Given the description of an element on the screen output the (x, y) to click on. 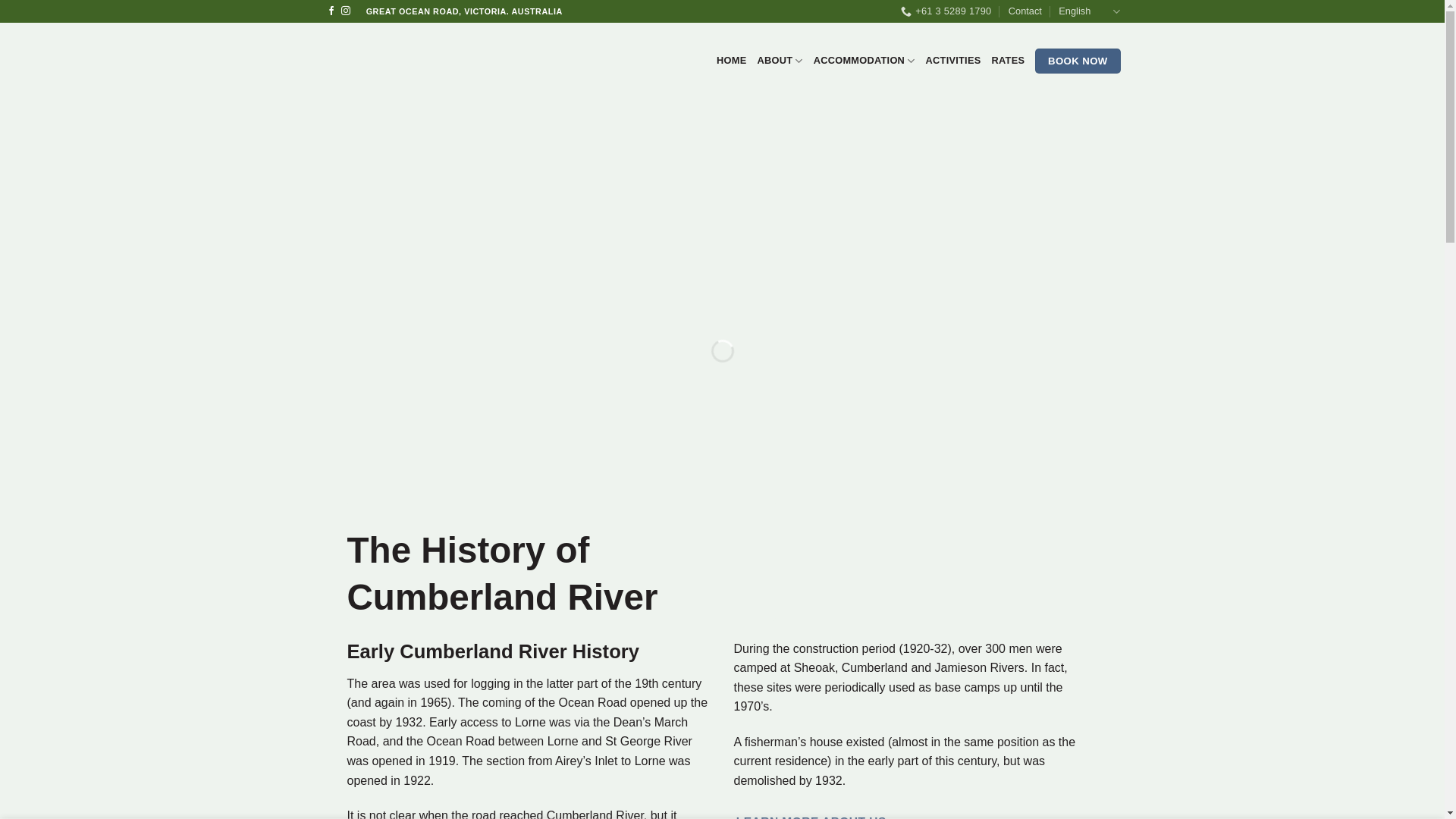
ABOUT Element type: text (779, 60)
Cumberland River - Great Ocean Road, Victoria. Australia Element type: hover (419, 60)
HOME Element type: text (731, 60)
RATES Element type: text (1008, 60)
+61 3 5289 1790 Element type: text (945, 11)
ACCOMMODATION Element type: text (864, 60)
Follow on Instagram Element type: hover (345, 11)
BOOK NOW Element type: text (1077, 61)
Follow on Facebook Element type: hover (330, 11)
Contact Element type: text (1024, 11)
English Element type: text (1089, 11)
ACTIVITIES Element type: text (953, 60)
